Given the description of an element on the screen output the (x, y) to click on. 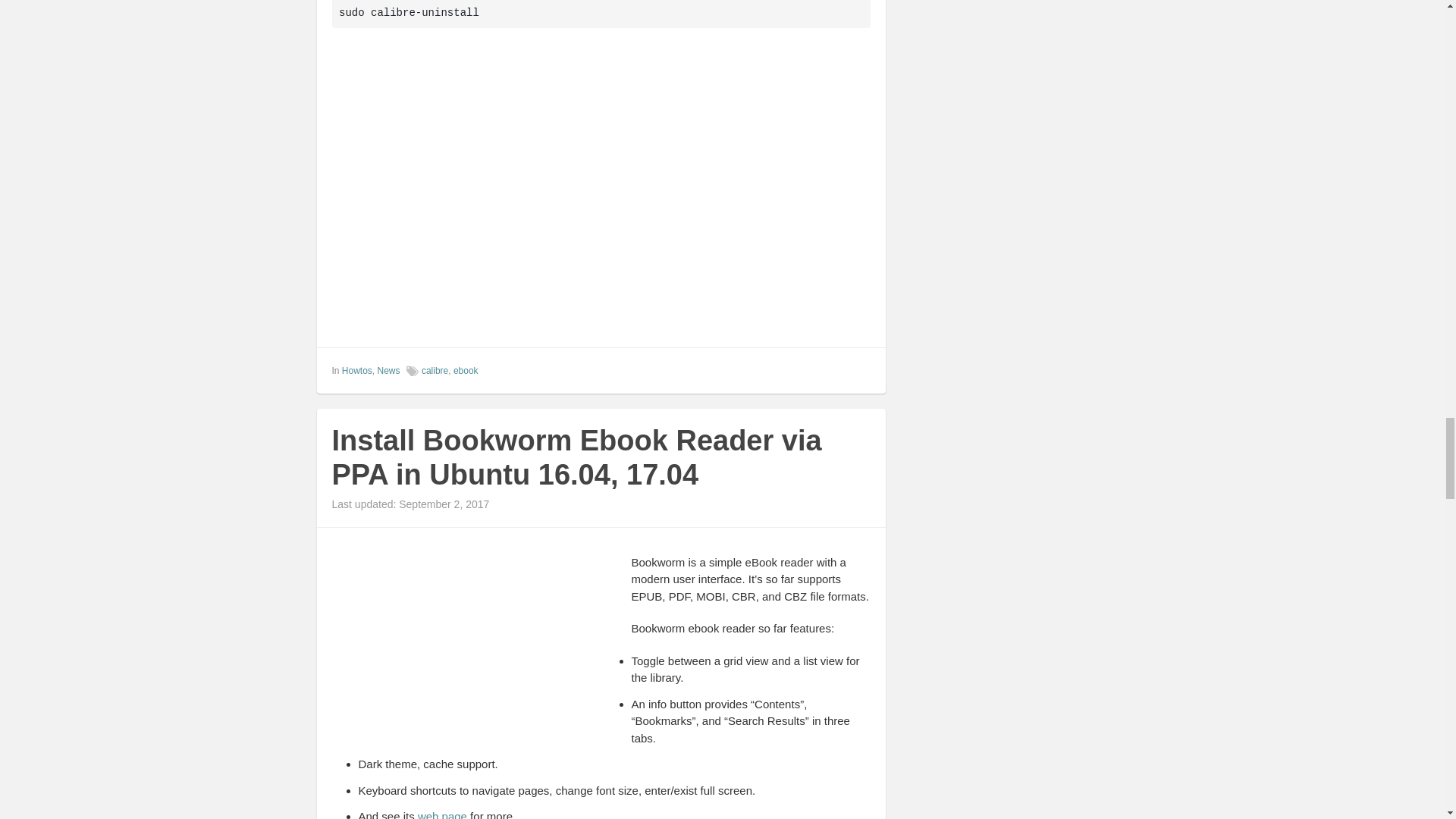
Install Bookworm Ebook Reader via PPA in Ubuntu 16.04, 17.04 (576, 458)
permalink (860, 369)
Howtos (357, 370)
Install Bookworm Ebook Reader via PPA in Ubuntu 16.04, 17.04 (576, 458)
ebook (465, 370)
web page (442, 814)
calibre (435, 370)
News (388, 370)
